Given the description of an element on the screen output the (x, y) to click on. 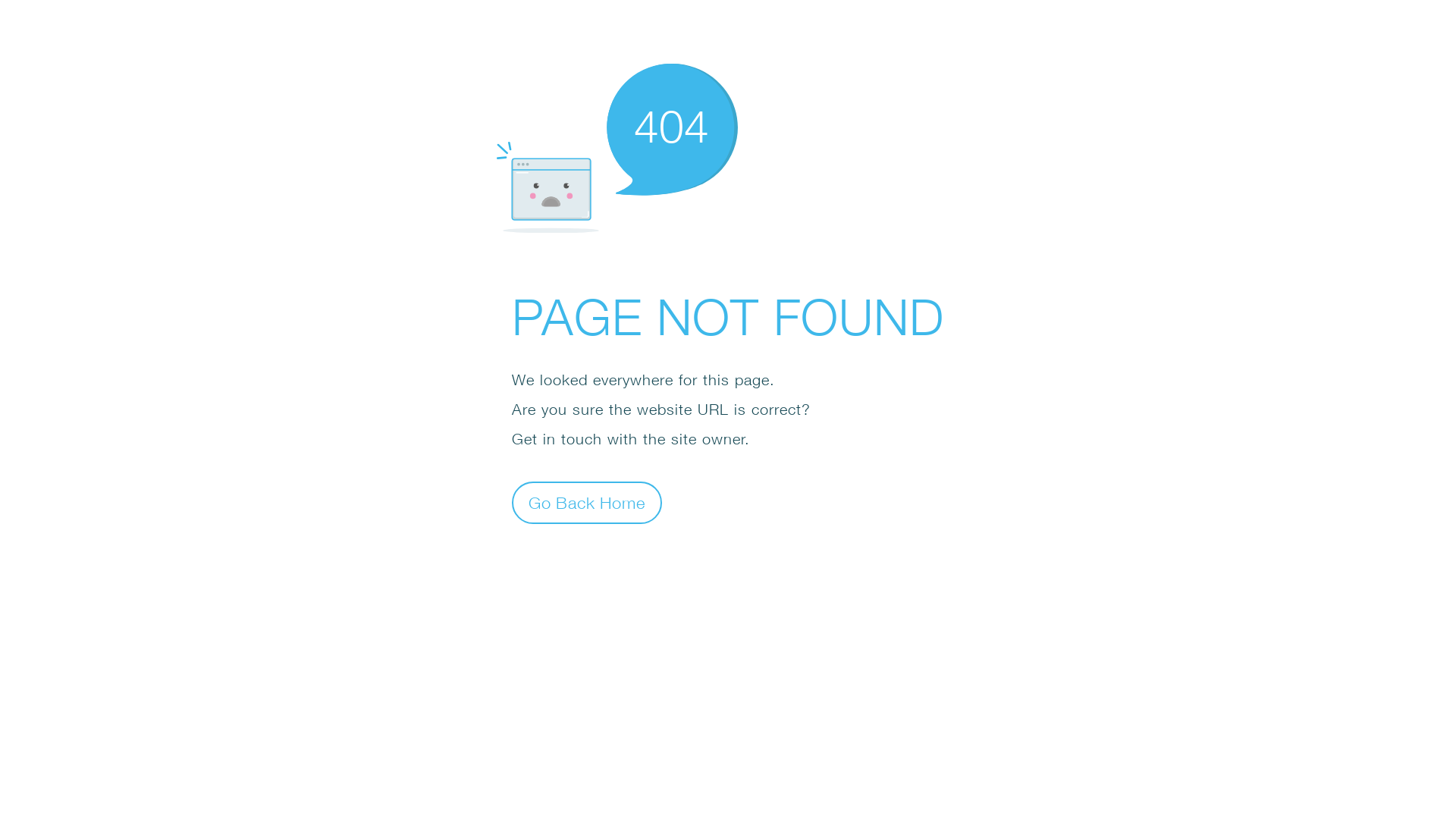
Go Back Home Element type: text (586, 502)
